Given the description of an element on the screen output the (x, y) to click on. 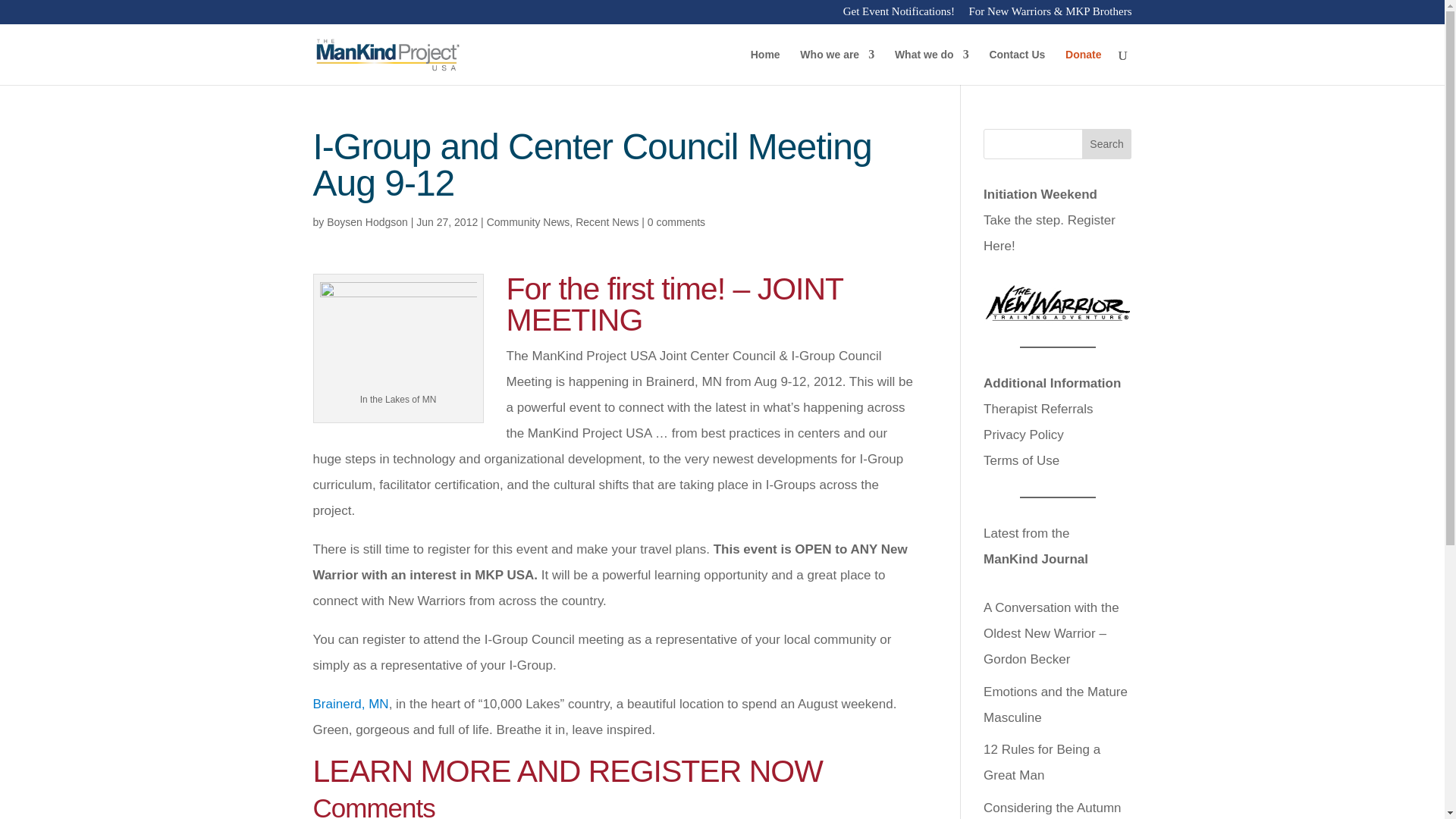
Recent News (607, 222)
Contact Us (1016, 67)
Get Event Notifications! (899, 15)
Posts by Boysen Hodgson (366, 222)
Brainerd, MN (350, 703)
Community News (528, 222)
0 comments (675, 222)
Search (1106, 143)
Great-Lake-Minnesota (398, 333)
Who we are (837, 67)
